Given the description of an element on the screen output the (x, y) to click on. 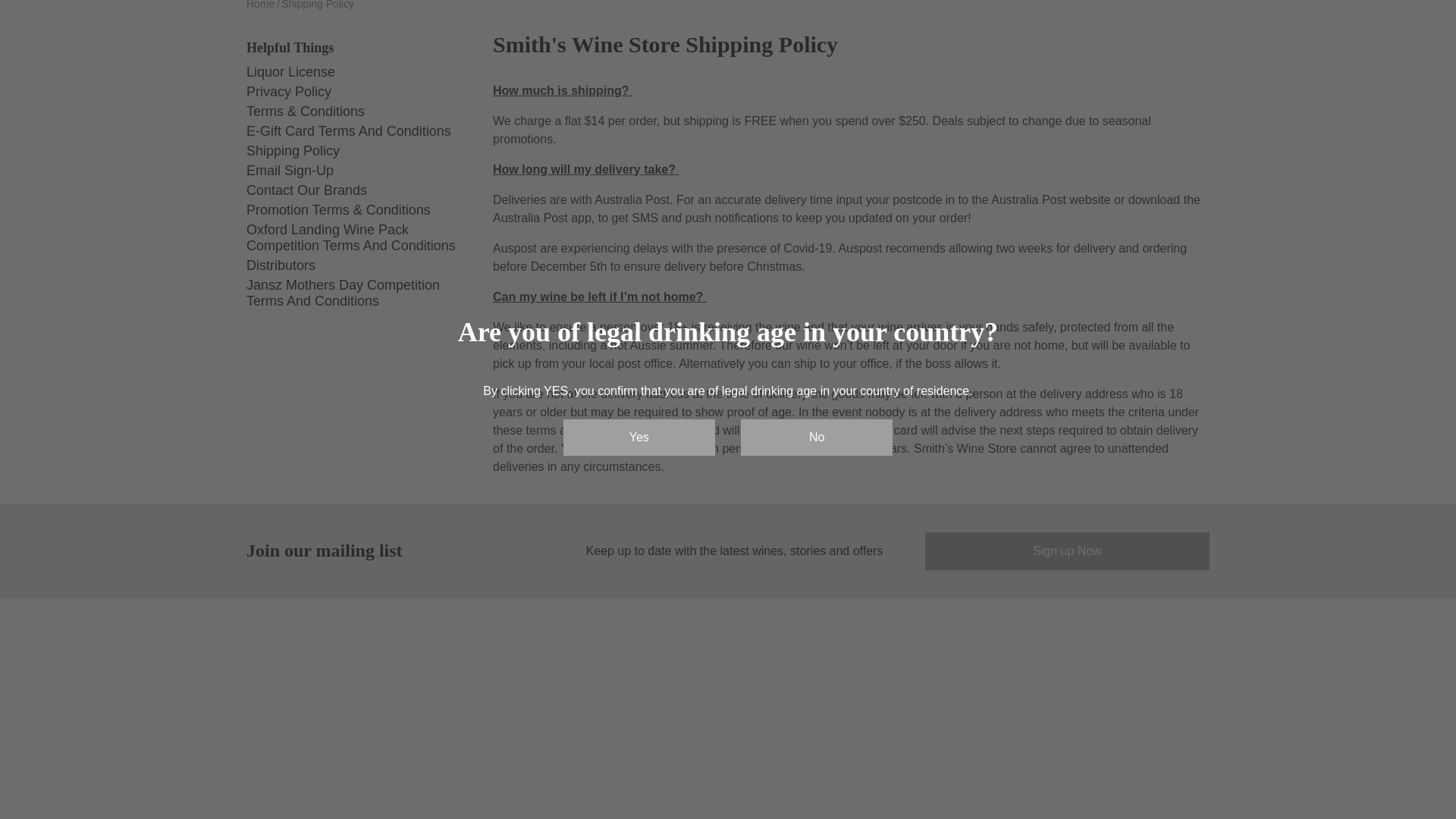
Yes (638, 235)
No (816, 235)
